Given the description of an element on the screen output the (x, y) to click on. 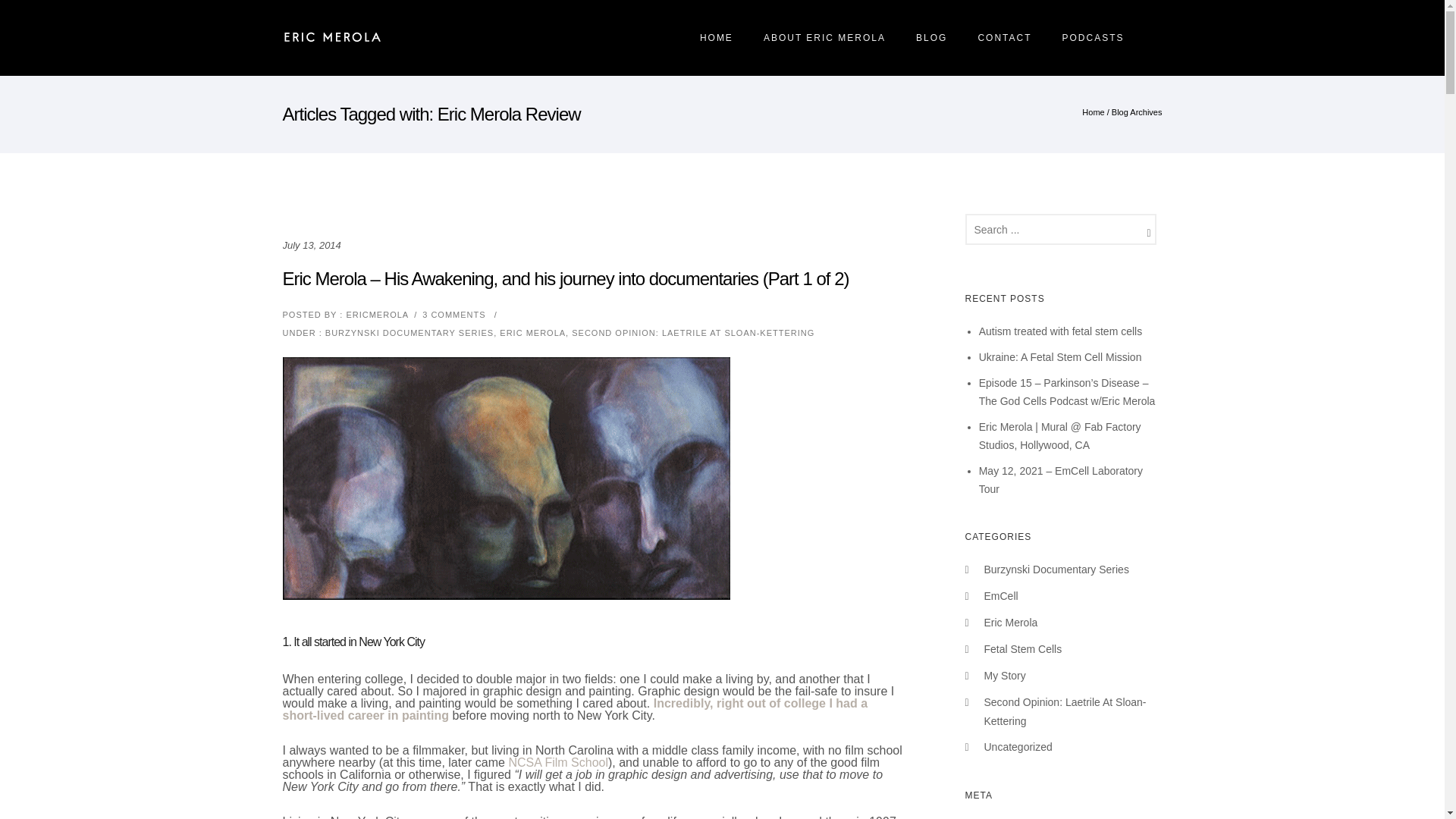
View all posts in Eric Merola (532, 332)
CONTACT (1004, 37)
About Eric Merola (824, 37)
3 COMMENTS (453, 314)
View all posts in Burzynski Documentary Series (407, 332)
Contact (1004, 37)
BLOG (931, 37)
Home (1092, 112)
BURZYNSKI DOCUMENTARY SERIES (407, 332)
Home (716, 37)
HOME (716, 37)
PODCASTS (1092, 37)
Podcasts (1092, 37)
Blog (931, 37)
